Given the description of an element on the screen output the (x, y) to click on. 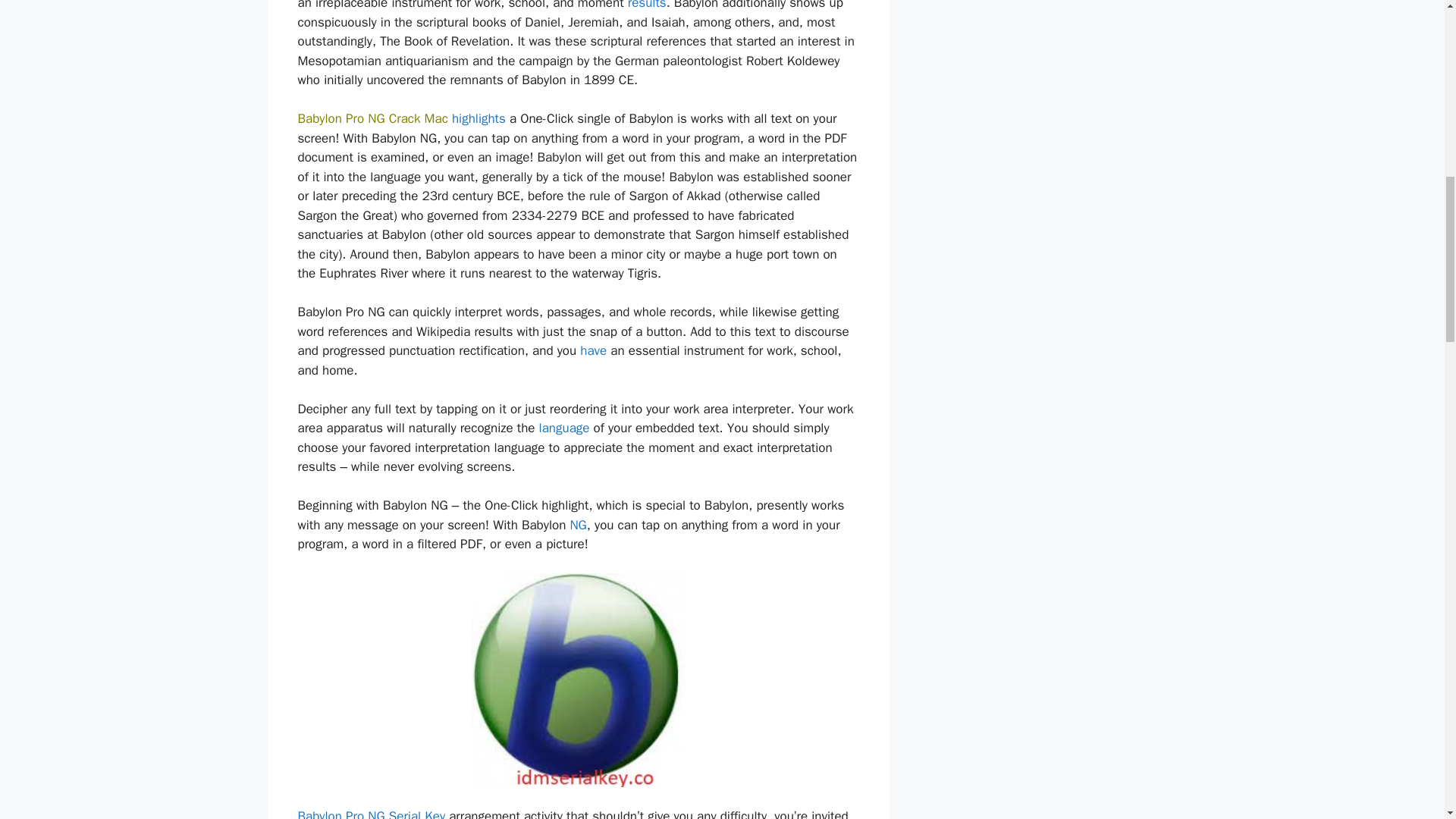
have (593, 350)
language (563, 427)
results (646, 5)
highlights (478, 118)
Babylon Pro NG Serial Key (371, 813)
NG (577, 524)
